Given the description of an element on the screen output the (x, y) to click on. 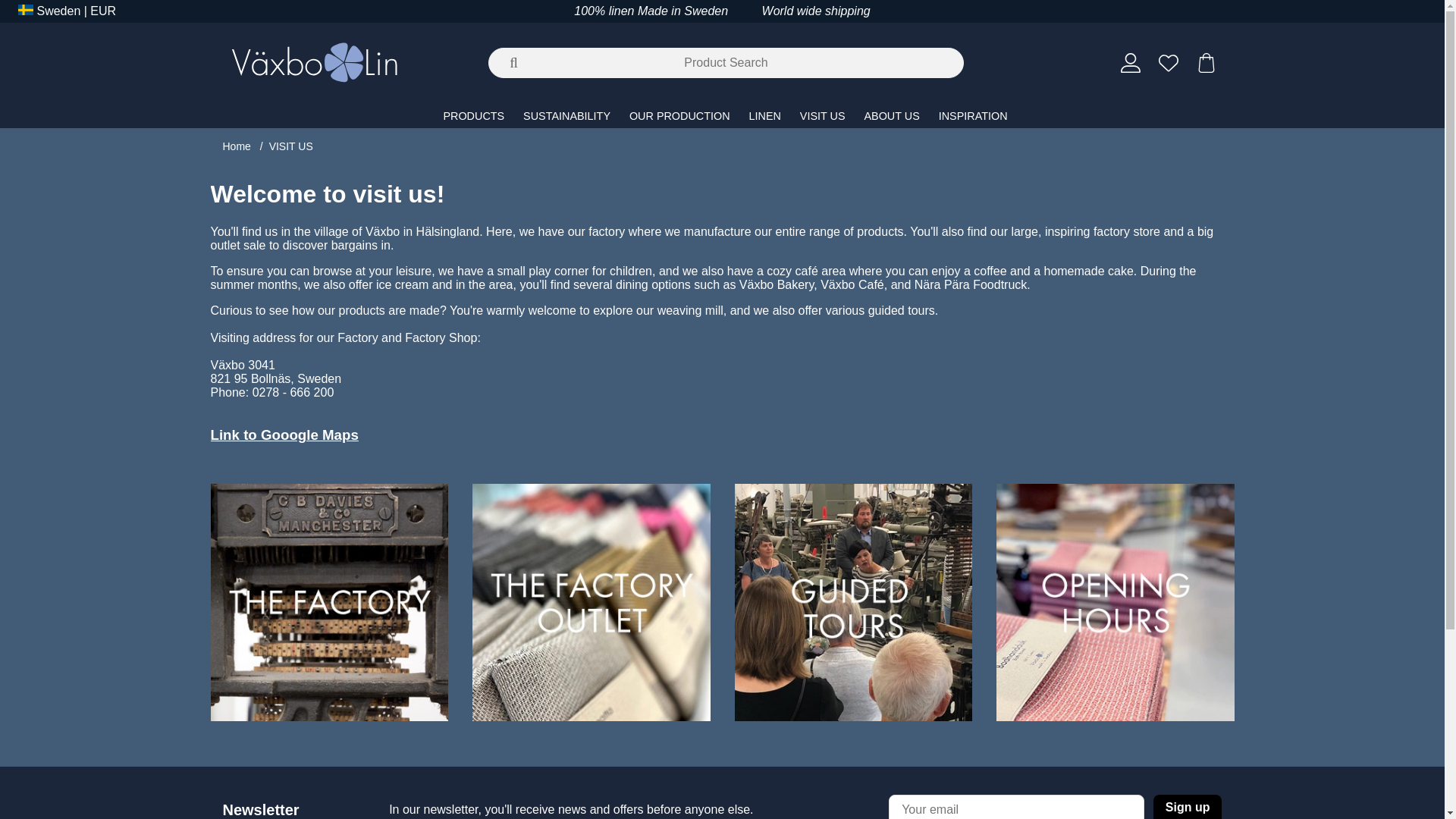
INSPIRATION (973, 115)
VISIT US (823, 115)
SUSTAINABILITY (568, 115)
OUR PRODUCTION (681, 115)
Search (12, 12)
LINEN (766, 115)
ABOUT US (892, 115)
